Given the description of an element on the screen output the (x, y) to click on. 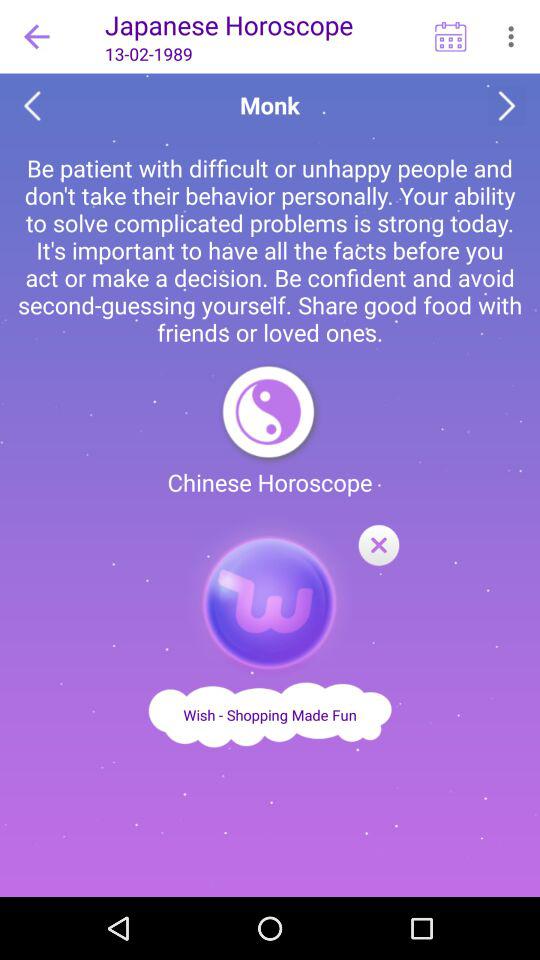
advertisement (269, 714)
